Given the description of an element on the screen output the (x, y) to click on. 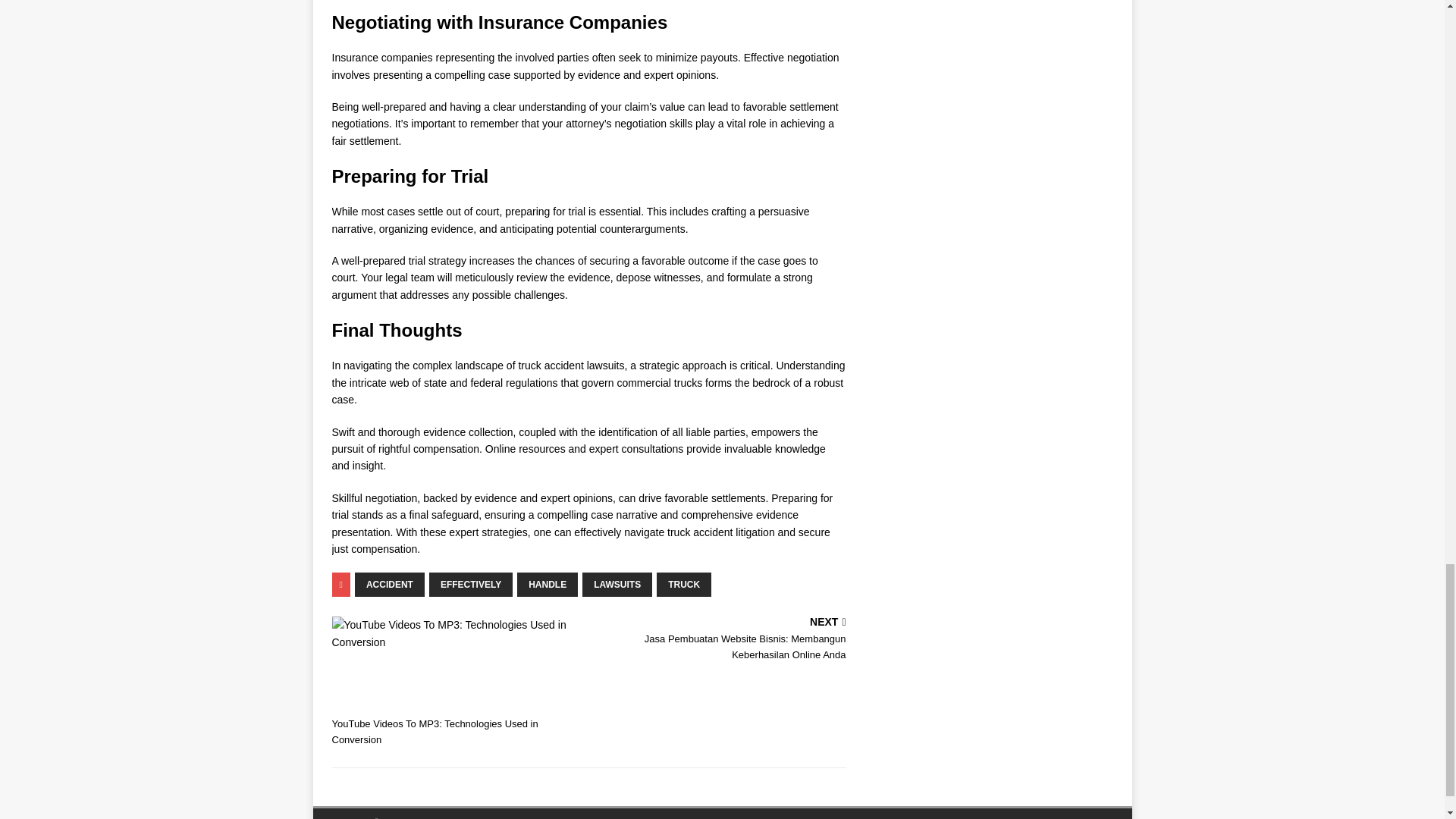
YouTube Videos To MP3: Technologies Used in Conversion (457, 682)
HANDLE (547, 584)
ACCIDENT (390, 584)
TRUCK (683, 584)
EFFECTIVELY (470, 584)
YouTube Videos To MP3: Technologies Used in Conversion (451, 633)
LAWSUITS (617, 584)
